Given the description of an element on the screen output the (x, y) to click on. 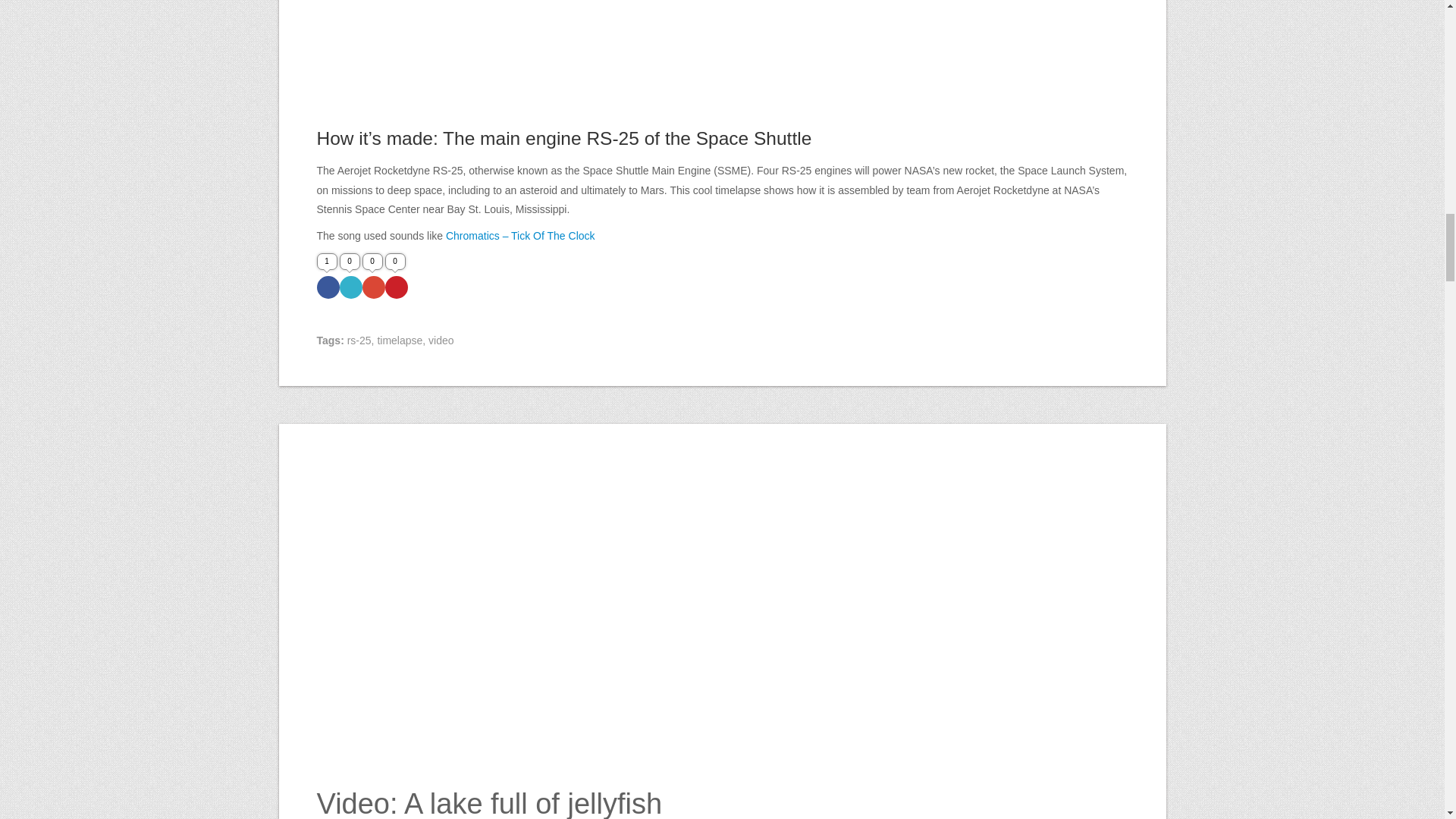
timelapse (399, 340)
1 (328, 287)
0 (373, 287)
rs-25 (359, 340)
video (440, 340)
0 (396, 287)
0 (350, 287)
